Given the description of an element on the screen output the (x, y) to click on. 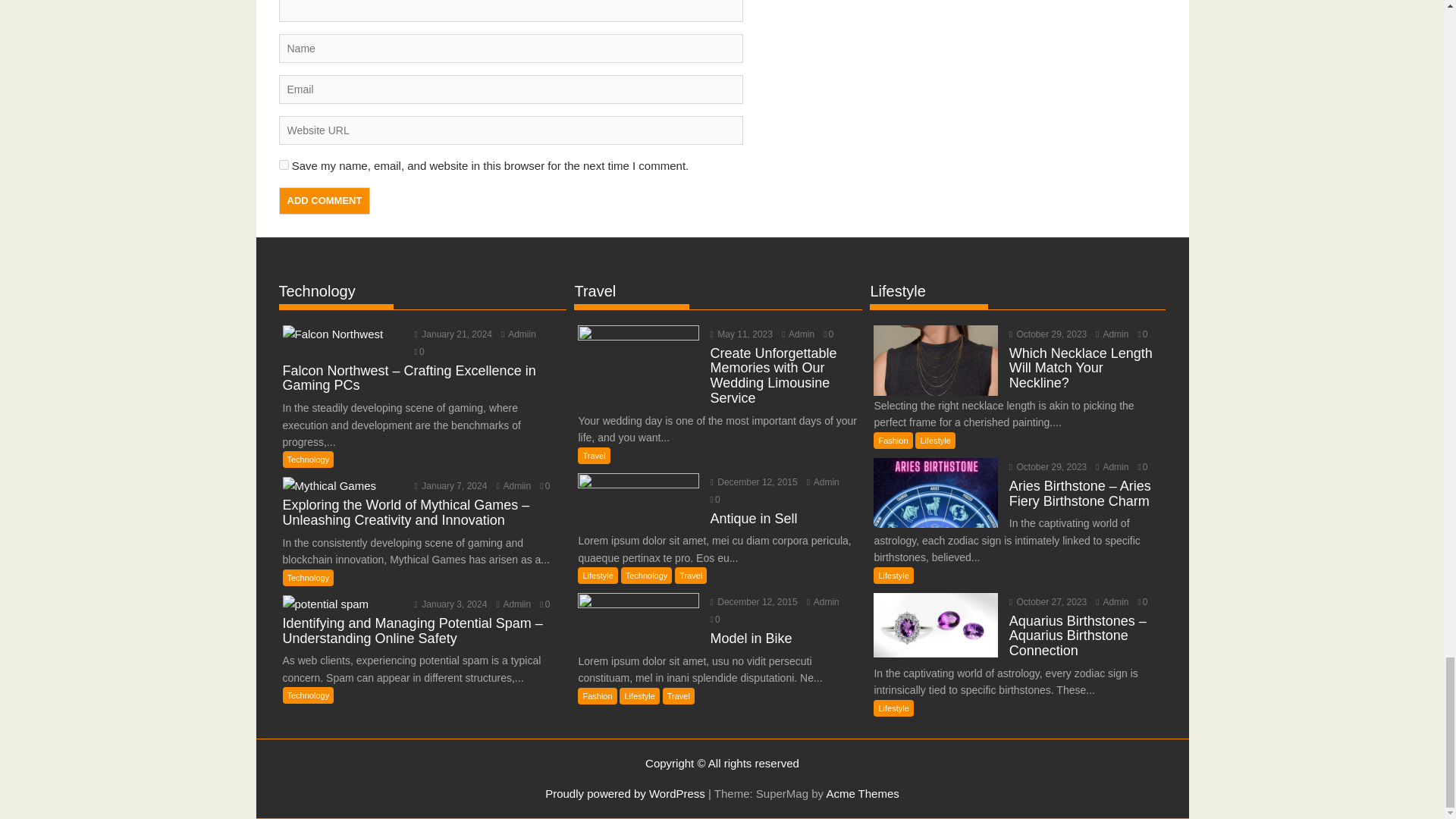
yes (283, 164)
Add Comment (325, 200)
